Given the description of an element on the screen output the (x, y) to click on. 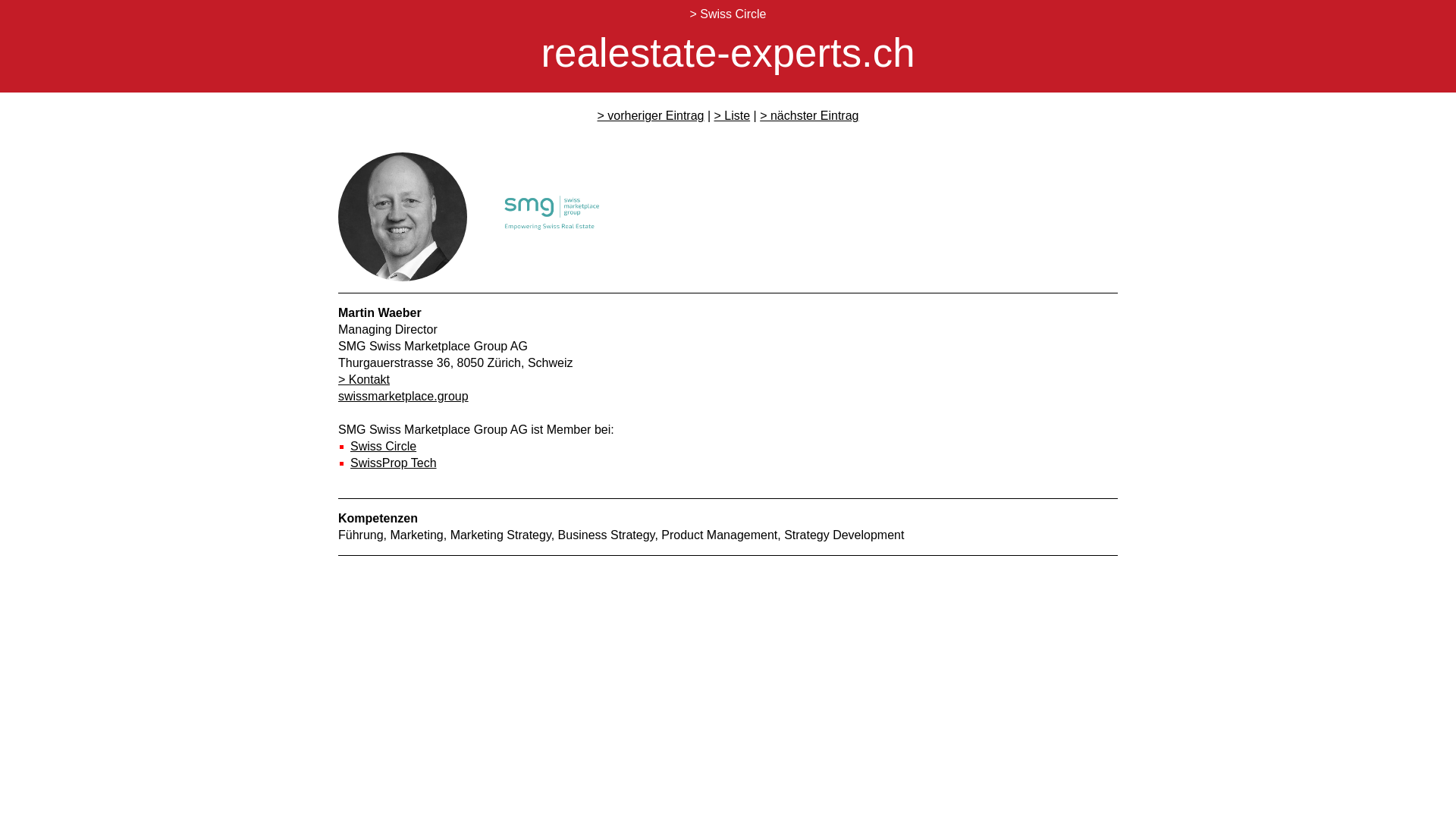
Swiss Circle (383, 445)
SwissProp Tech (393, 462)
swissmarketplace.group (402, 395)
